Given the description of an element on the screen output the (x, y) to click on. 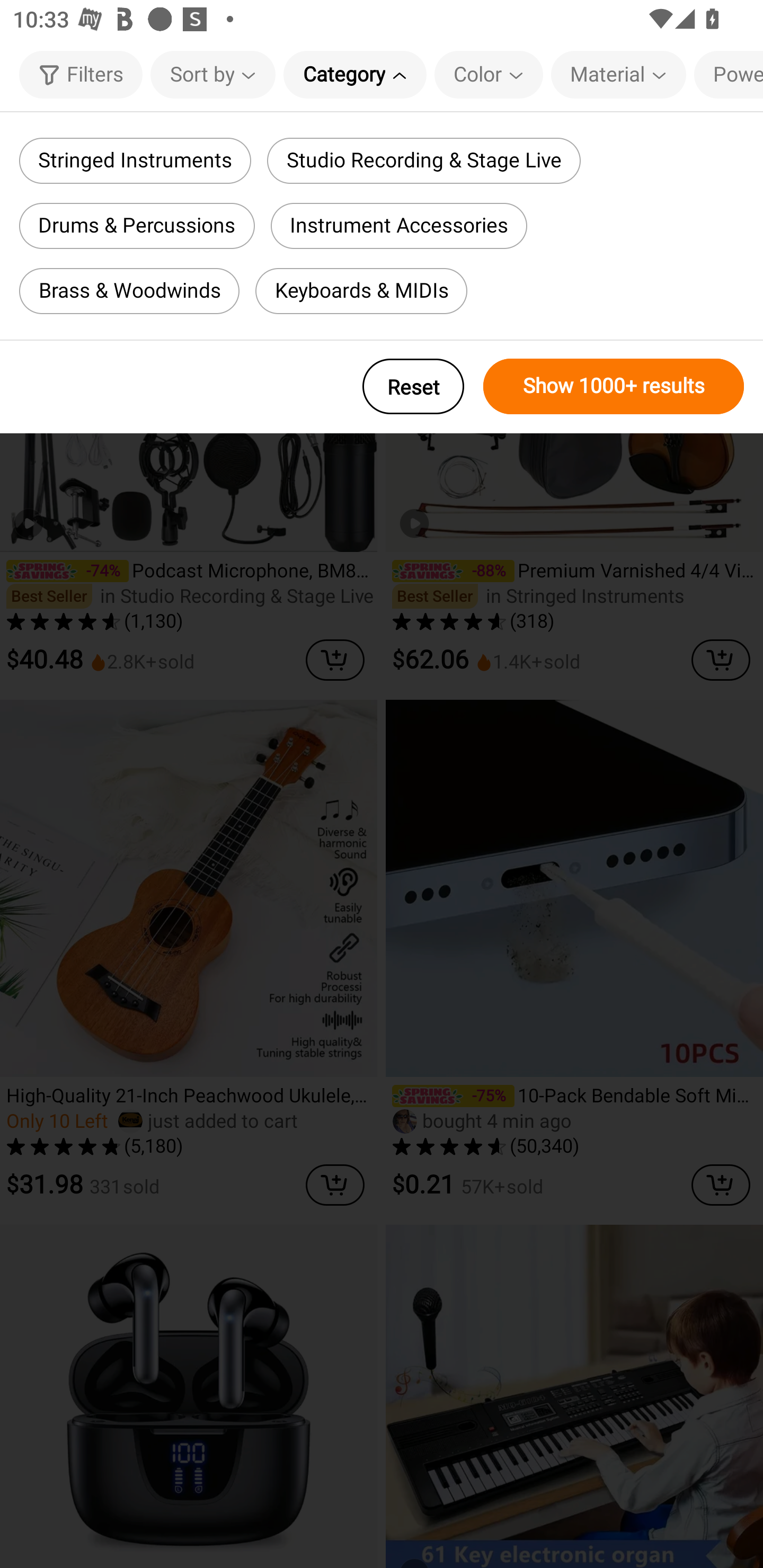
Filters (80, 74)
Sort by (212, 74)
Category (354, 74)
Color (488, 74)
Material (617, 74)
Power Mode (728, 74)
Stringed Instruments (135, 160)
Studio Recording & Stage Live (423, 160)
Drums & Percussions (136, 225)
Instrument Accessories (398, 225)
Brass & Woodwinds (129, 290)
Keyboards & MIDIs (360, 290)
Reset (412, 386)
Show 1000+ results (612, 386)
